Given the description of an element on the screen output the (x, y) to click on. 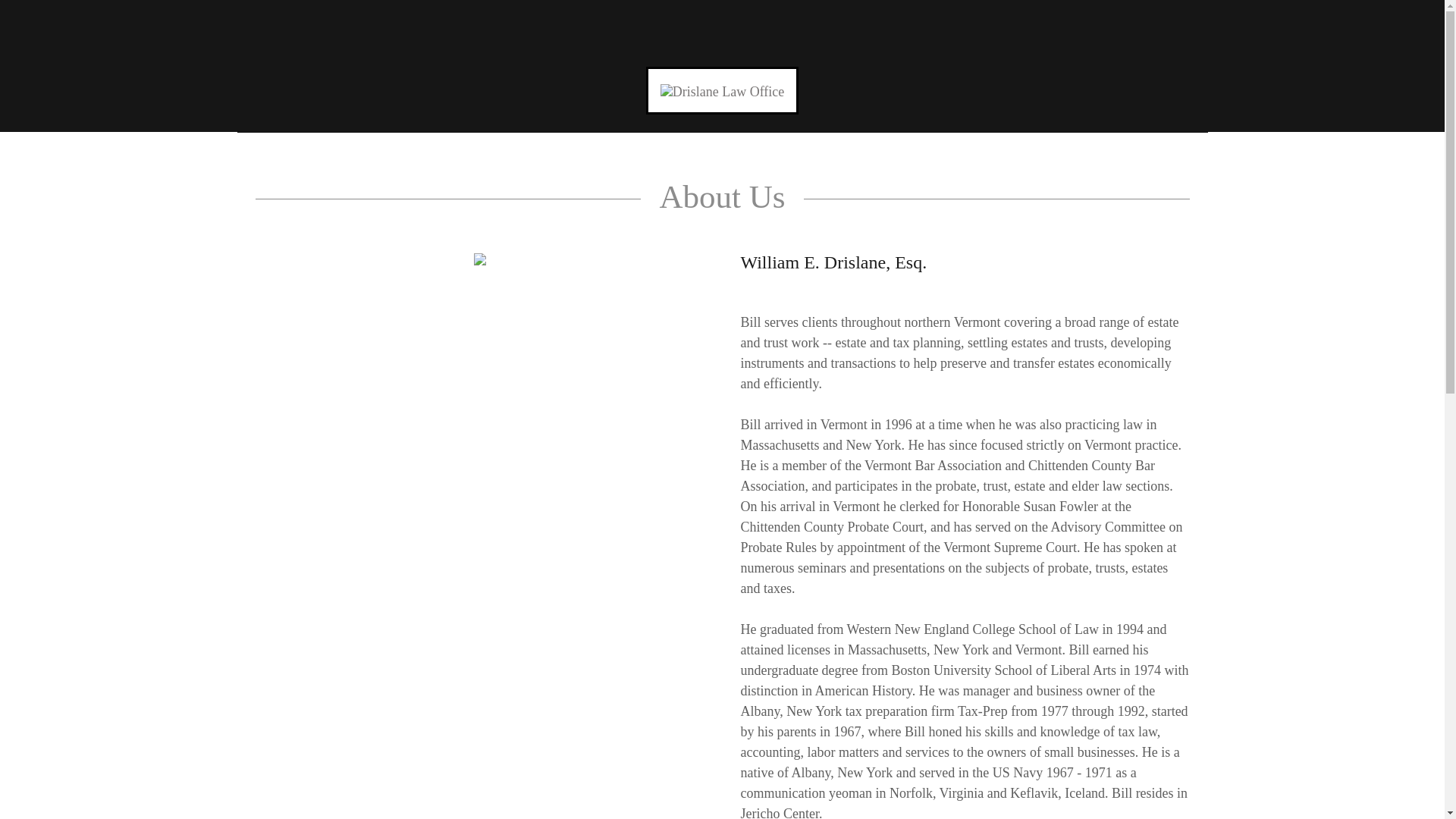
Drislane Law Office (722, 90)
